Given the description of an element on the screen output the (x, y) to click on. 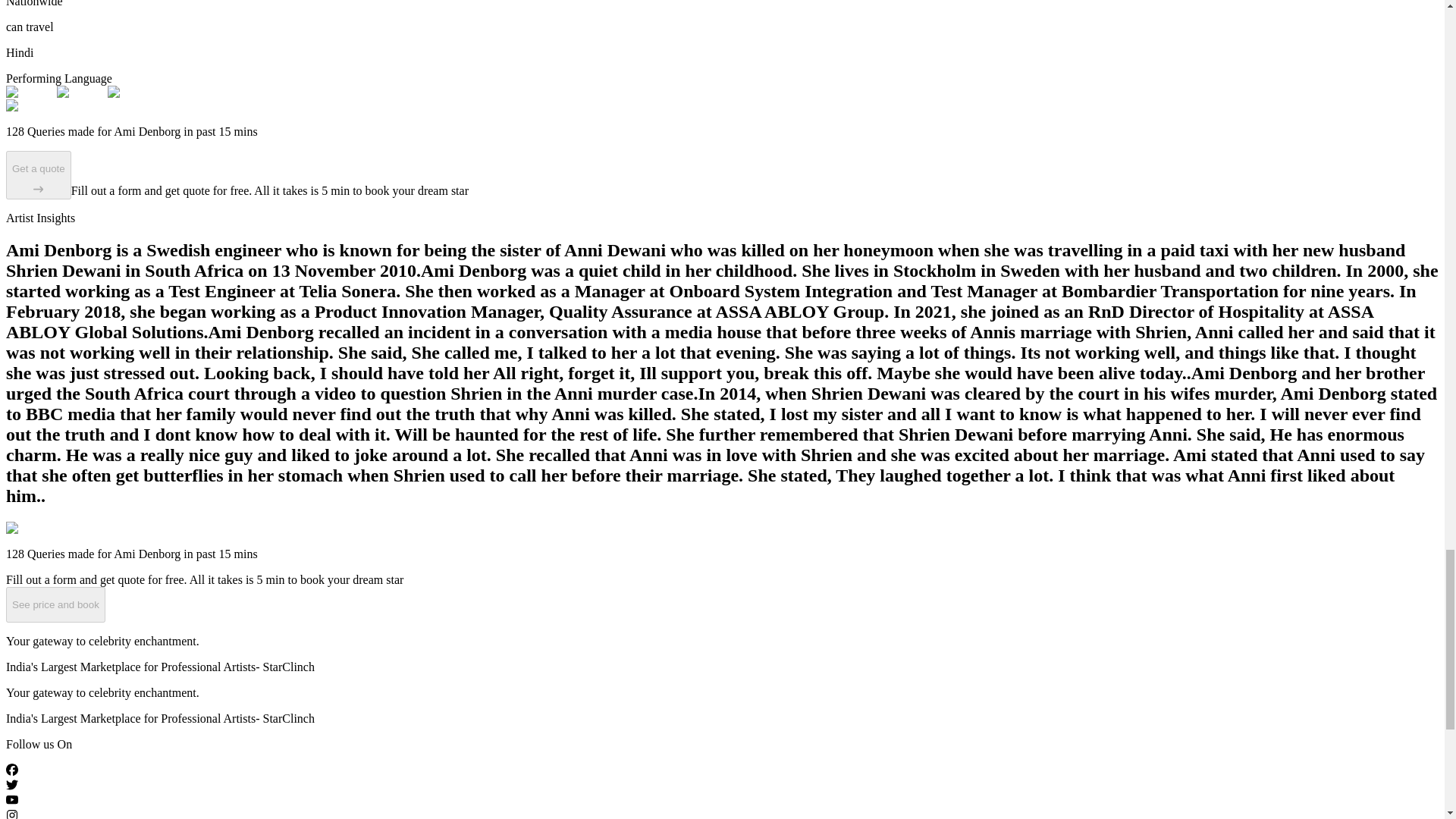
Get a quote (38, 174)
See price and book (54, 605)
See price and book (54, 603)
